Given the description of an element on the screen output the (x, y) to click on. 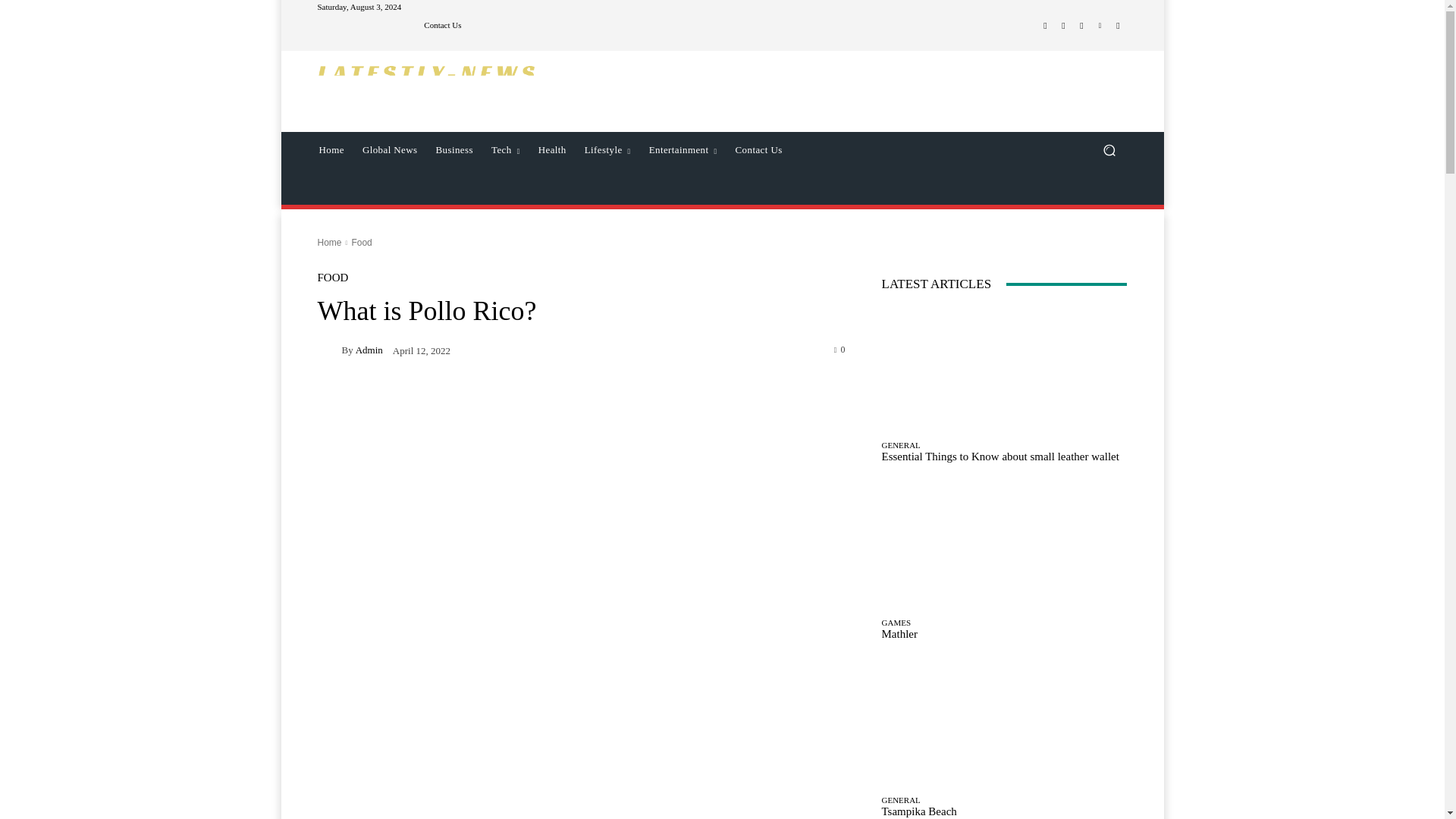
Twitter (1080, 25)
Tech (505, 149)
Global News (389, 149)
Entertainment (683, 149)
Health (552, 149)
Contact Us (759, 149)
Youtube (1117, 25)
View all posts in Food (360, 242)
Lifestyle (607, 149)
Business (453, 149)
